Given the description of an element on the screen output the (x, y) to click on. 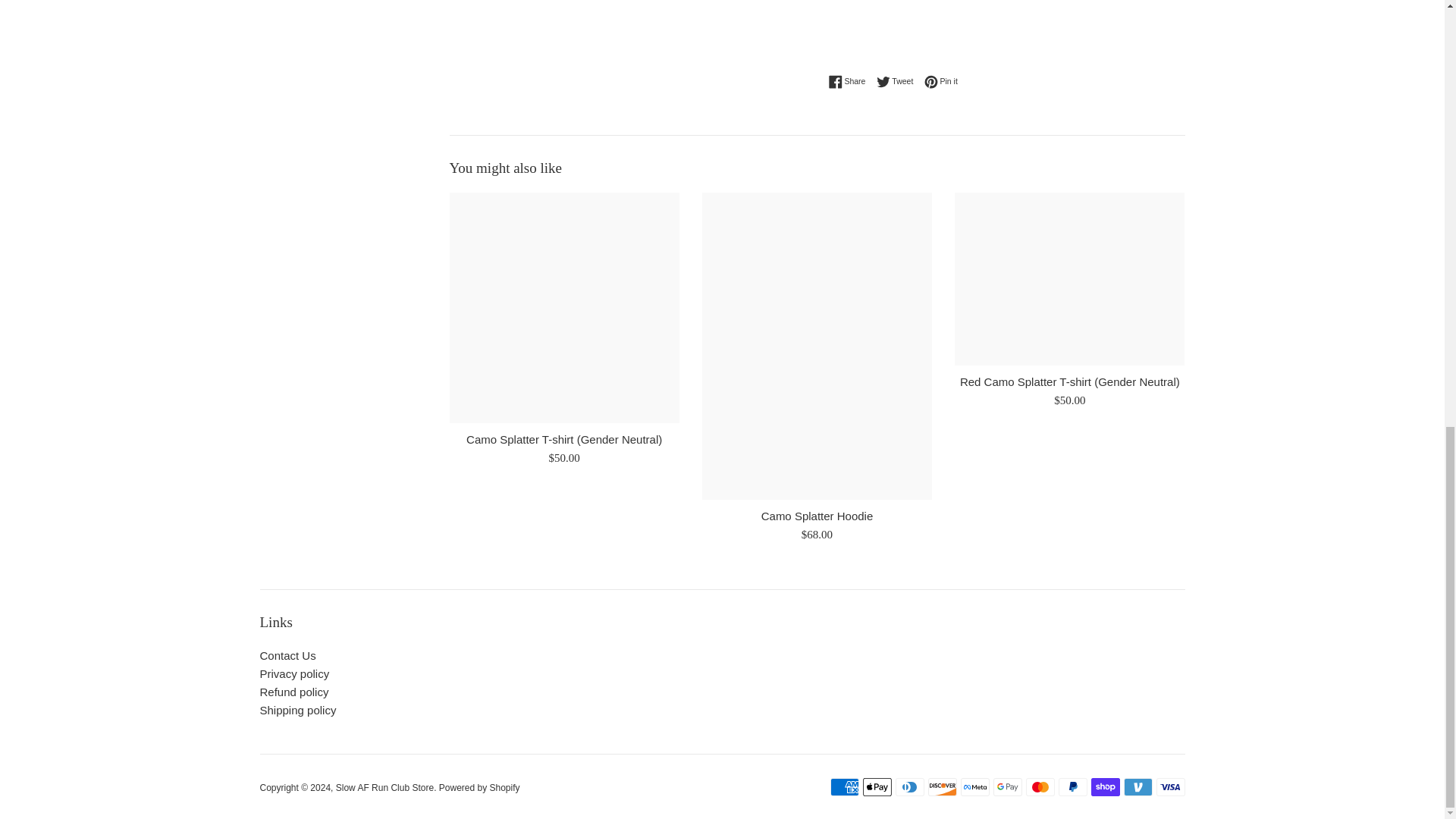
PayPal (1072, 787)
Tweet on Twitter (898, 81)
Venmo (1138, 787)
Discover (942, 787)
Diners Club (909, 787)
Apple Pay (941, 81)
Shop Pay (877, 787)
Pin on Pinterest (1104, 787)
Camo Splatter Hoodie (941, 81)
Contact Us (817, 515)
Share on Facebook (287, 655)
Mastercard (850, 81)
Privacy policy (1039, 787)
Meta Pay (294, 673)
